Given the description of an element on the screen output the (x, y) to click on. 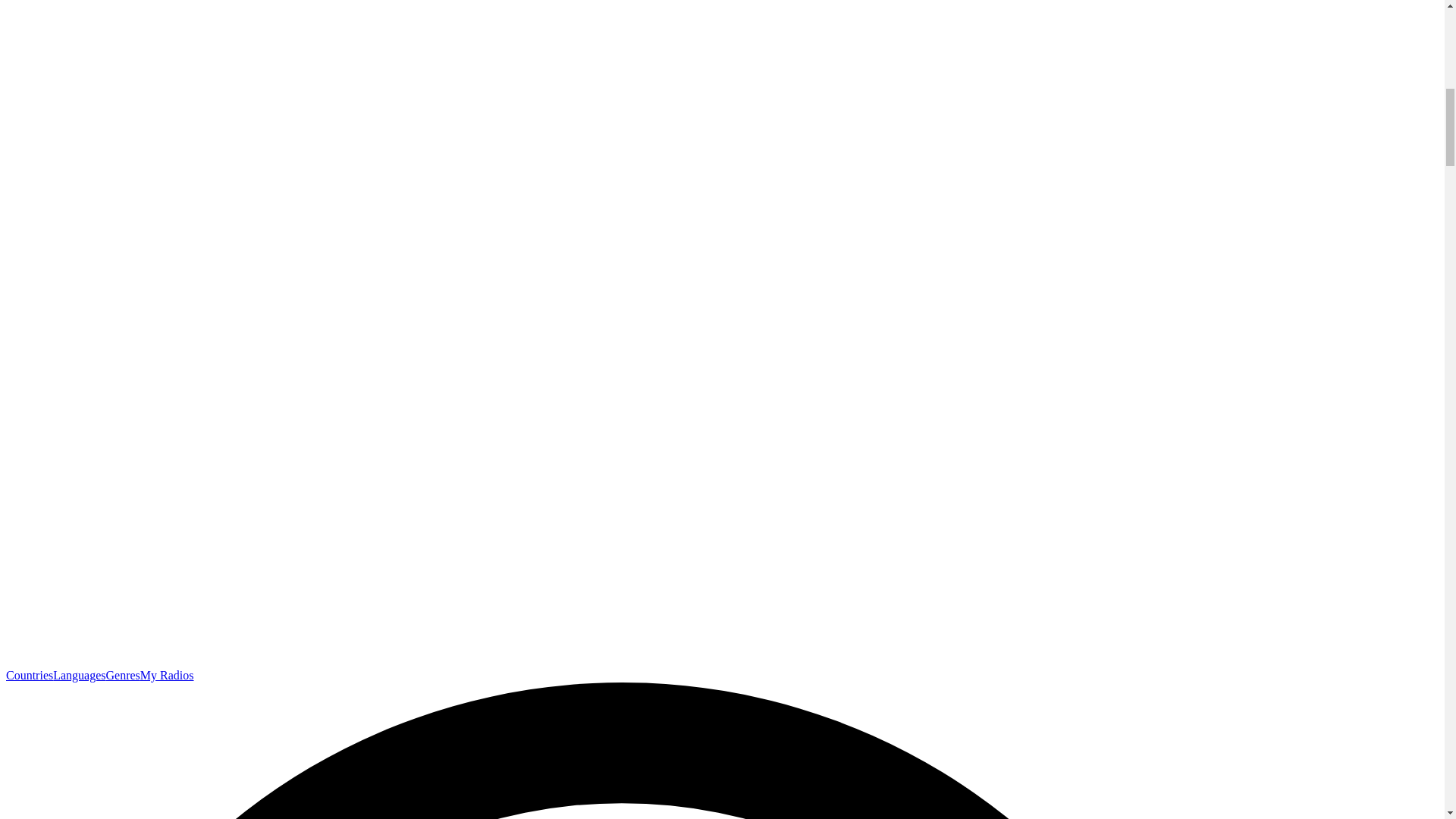
Countries (28, 675)
Languages (78, 675)
Genres (122, 675)
My Radios (166, 675)
